Given the description of an element on the screen output the (x, y) to click on. 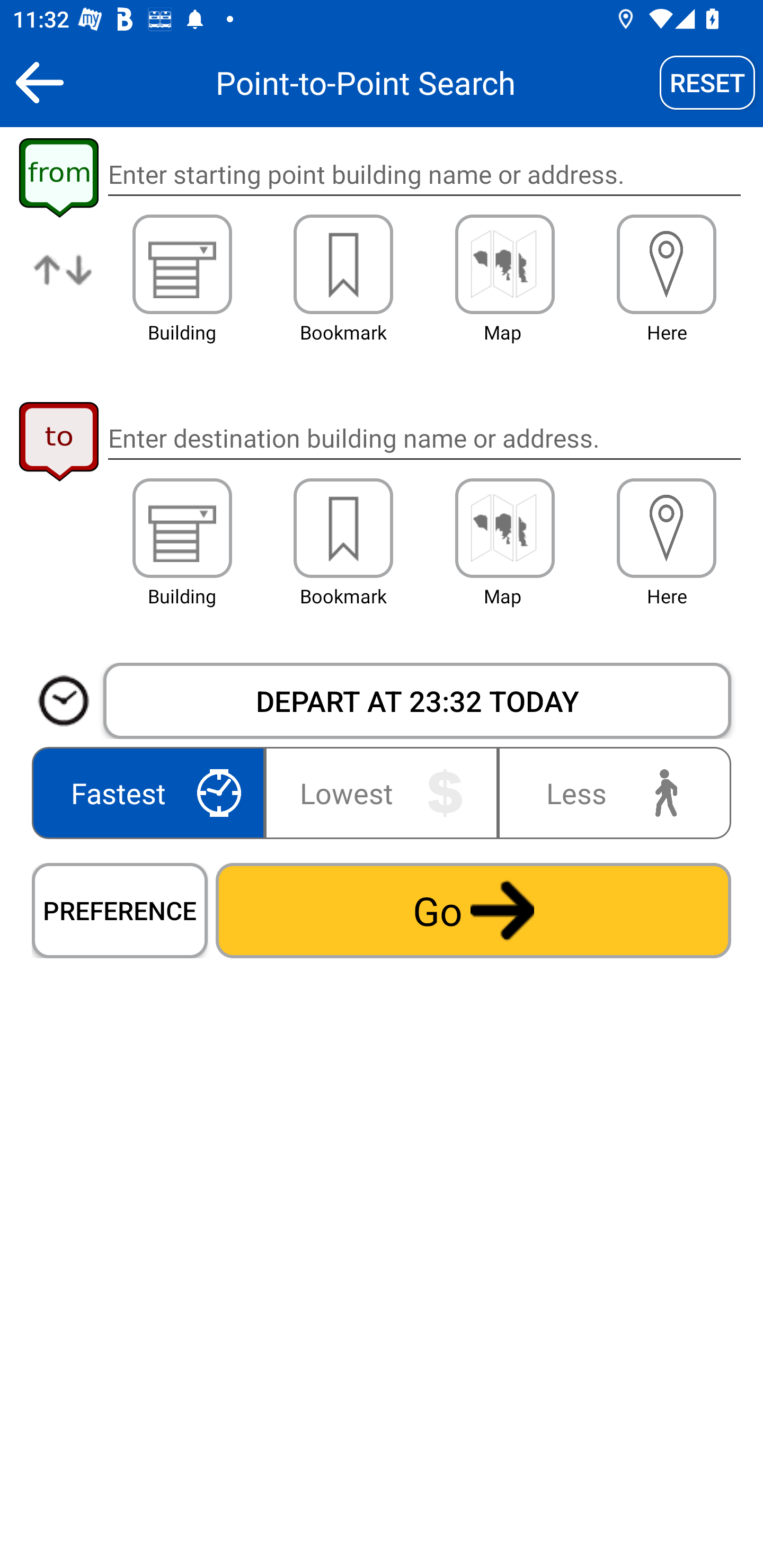
Back (39, 82)
RESET Reset (707, 81)
Enter starting point building name or address. (423, 174)
Building (181, 263)
Bookmarks (342, 263)
Select location on map (504, 263)
Here (666, 263)
Swap origin and destination (63, 284)
Enter destination building name or address. (423, 437)
Building (181, 528)
Bookmarks (342, 528)
Select location on map (504, 528)
Here (666, 528)
Lowest (381, 792)
Fastest selected (151, 792)
Less (610, 792)
PREFERENCE Preference (119, 910)
Go (472, 910)
